Given the description of an element on the screen output the (x, y) to click on. 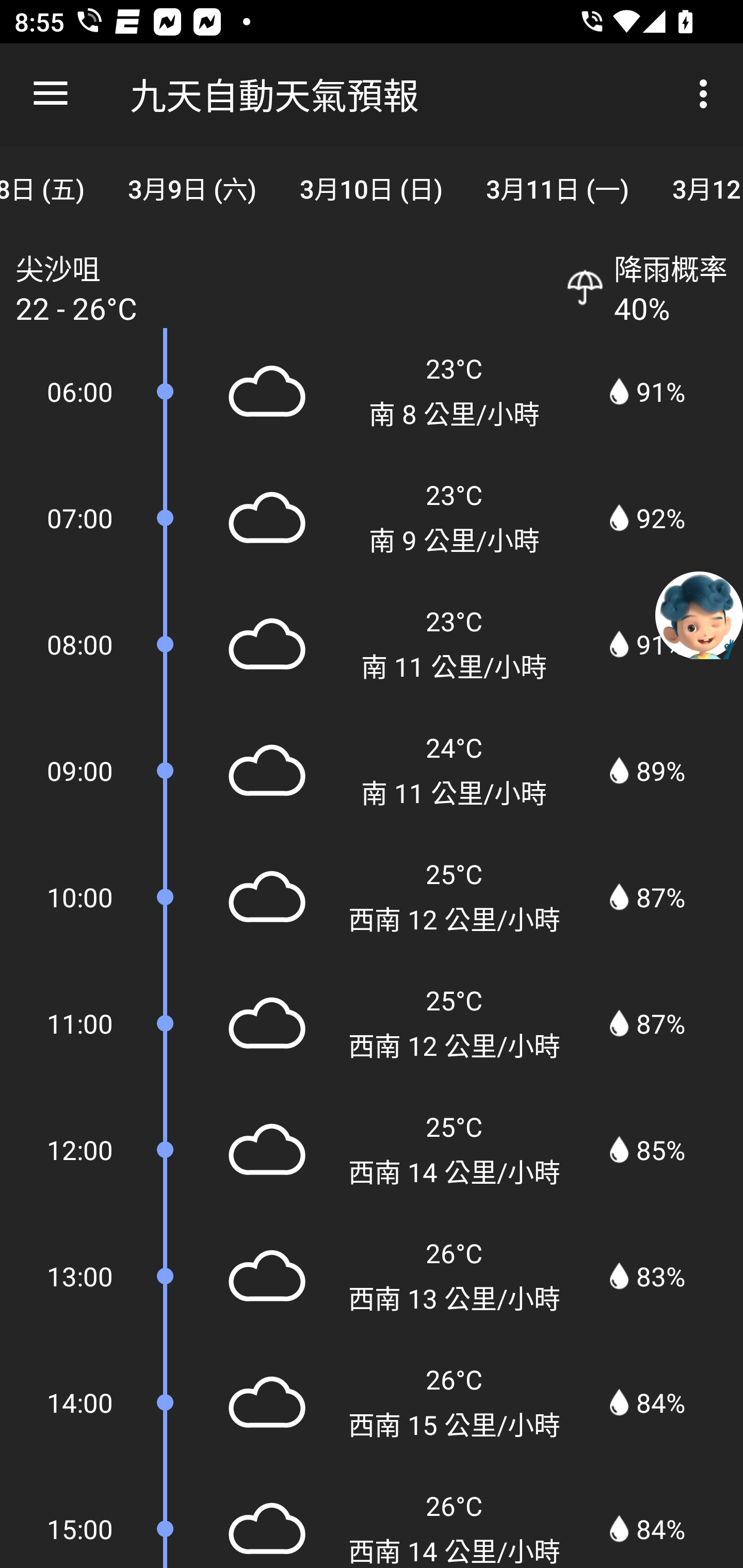
向上瀏覽 (50, 93)
更多選項 (706, 93)
3月9日 (六) (191, 187)
3月10日 (日) (370, 187)
3月11日 (一) (557, 187)
聊天機械人 (699, 614)
